Given the description of an element on the screen output the (x, y) to click on. 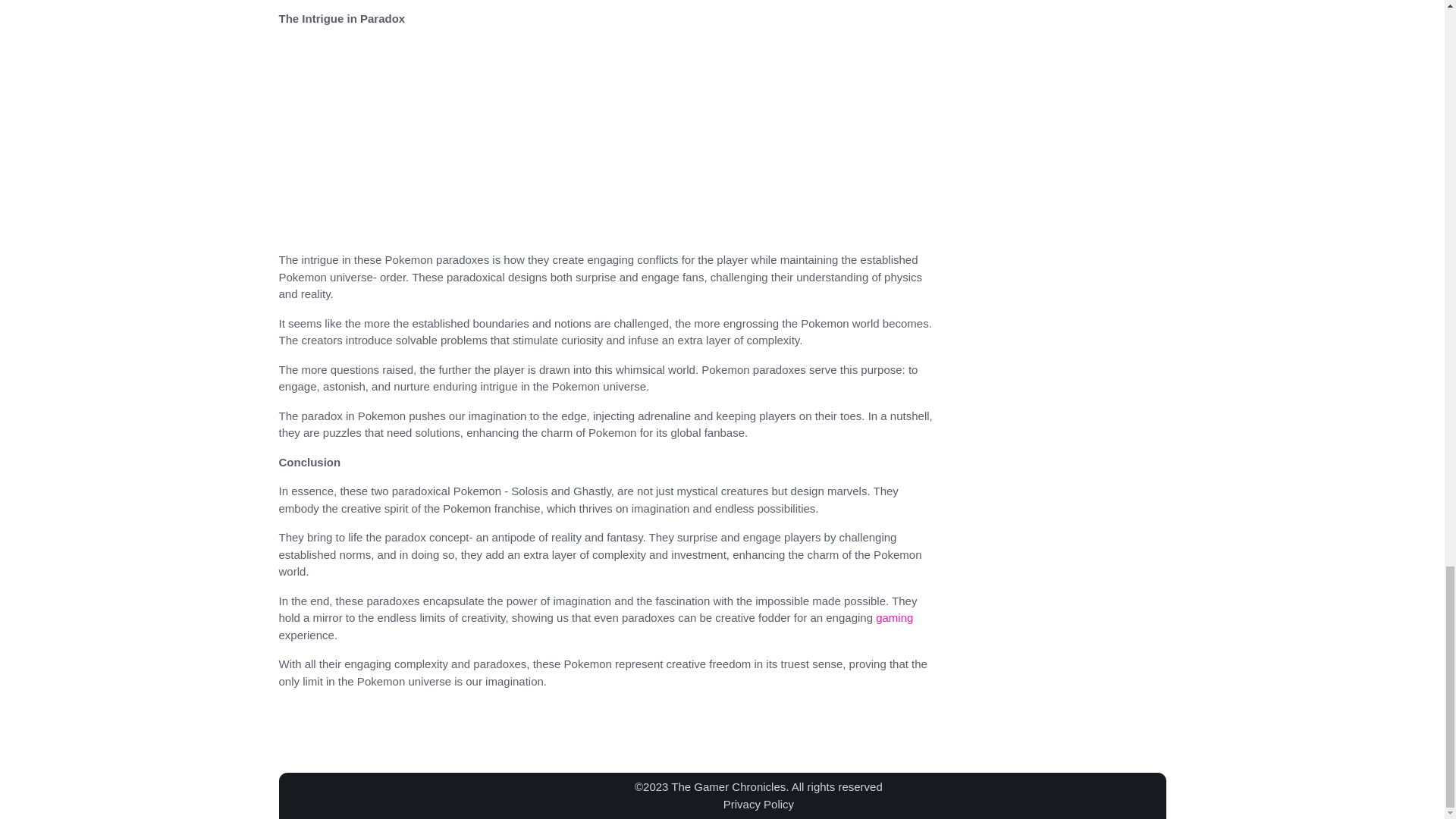
The Gamer Chronicles (728, 786)
gaming (892, 617)
Privacy Policy (757, 803)
